Given the description of an element on the screen output the (x, y) to click on. 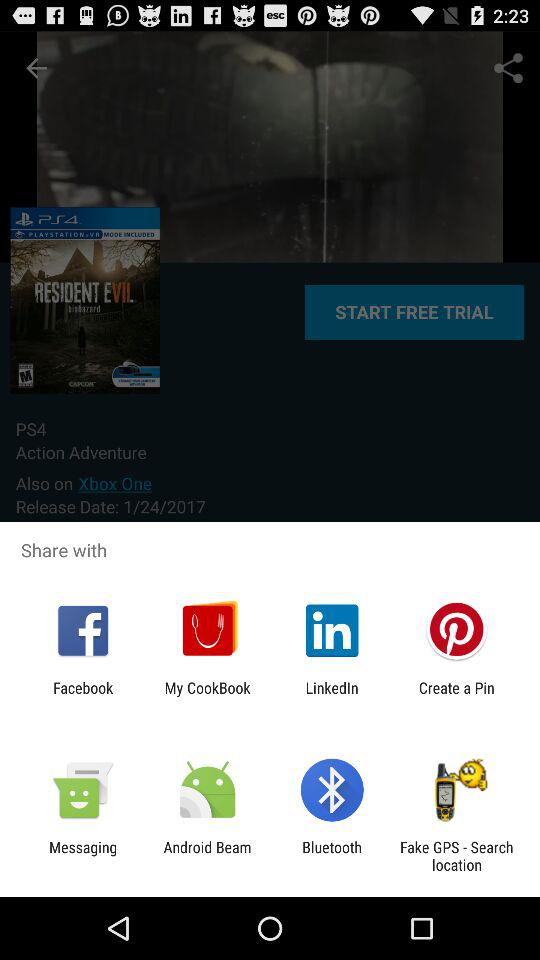
tap fake gps search app (456, 856)
